Given the description of an element on the screen output the (x, y) to click on. 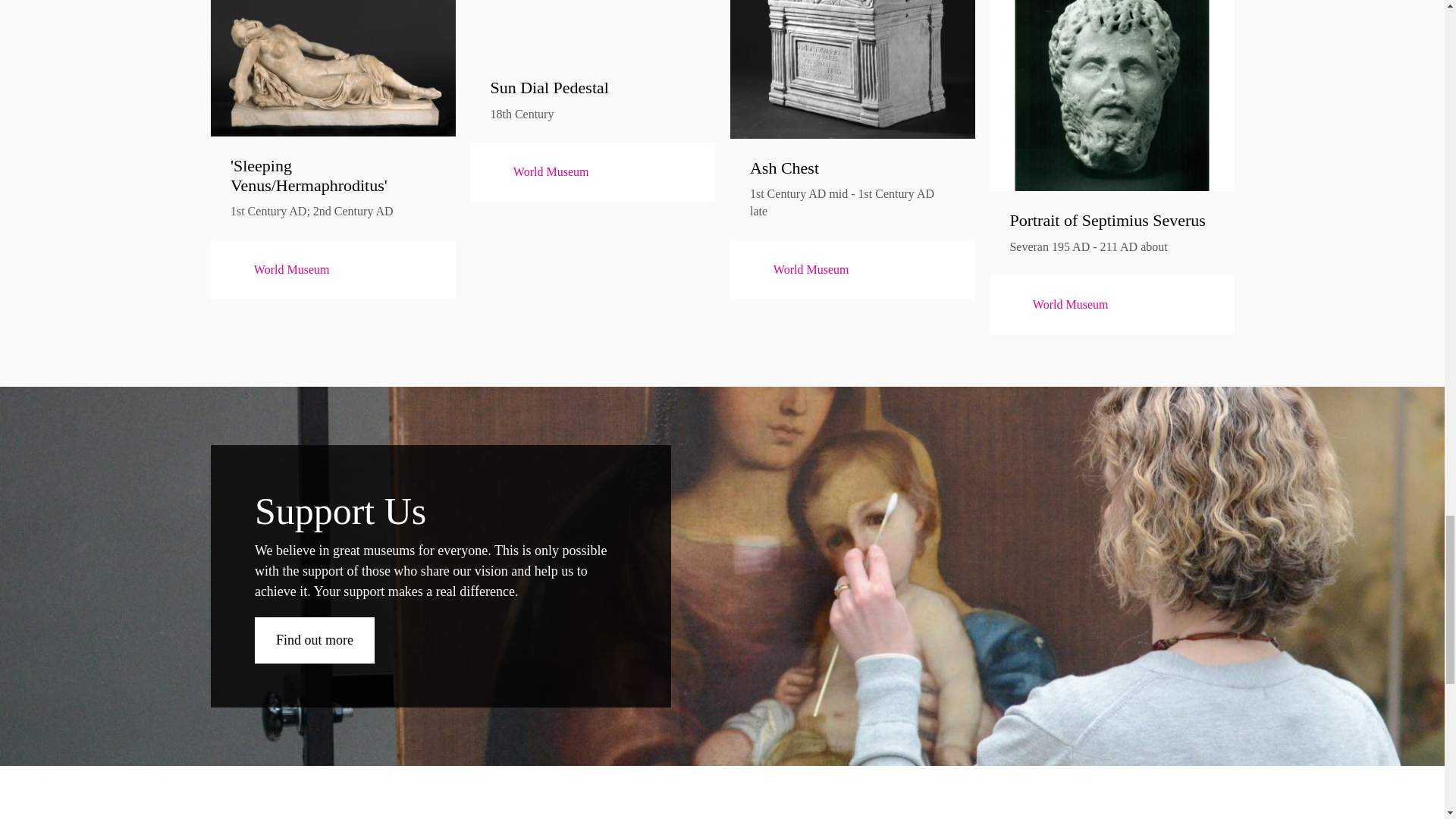
Sun Dial Pedestal (591, 87)
World Museum (538, 172)
World Museum (798, 270)
World Museum (279, 270)
Ash Chest (852, 167)
